Given the description of an element on the screen output the (x, y) to click on. 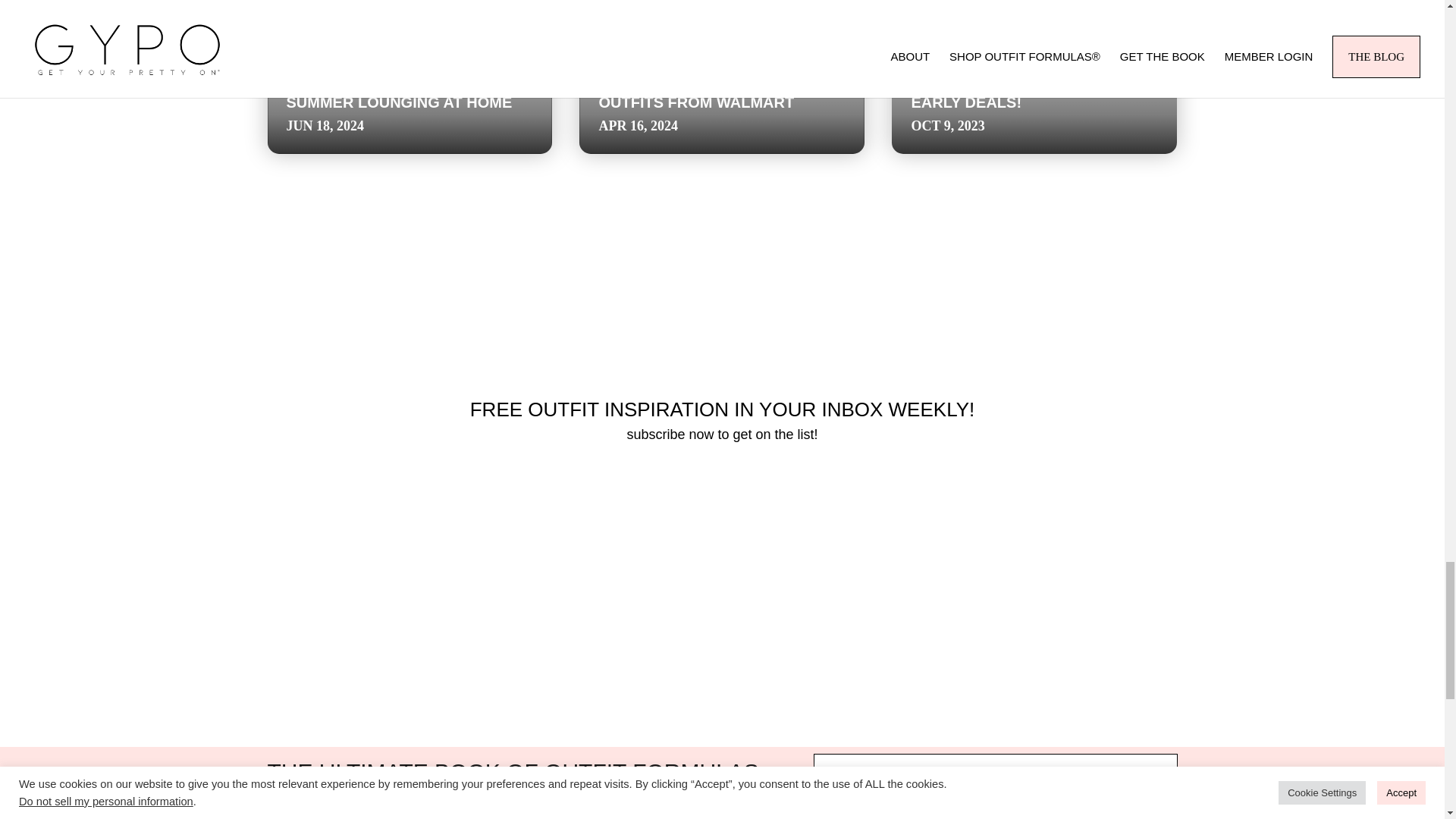
SUMMER LOUNGING AT HOME (399, 102)
KICKSTART YOUR HOLIDAY SHOPPING WITH WALMART'S EARLY DEALS! (1020, 82)
MIX AND MATCH ACTIVE WEAR OUTFITS FROM WALMART (713, 92)
